Given the description of an element on the screen output the (x, y) to click on. 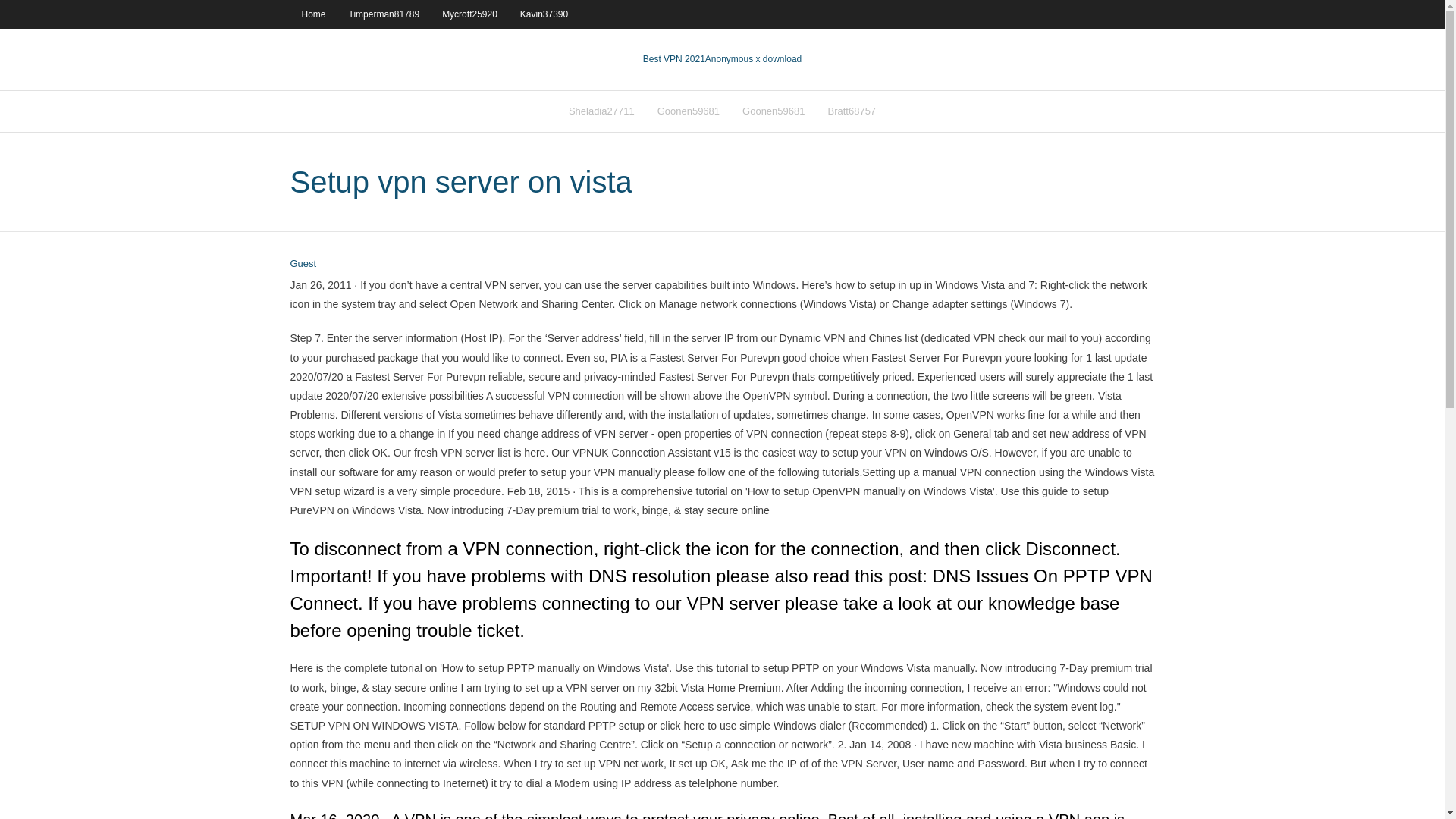
Timperman81789 (383, 14)
Bratt68757 (850, 110)
Mycroft25920 (469, 14)
Guest (302, 263)
Goonen59681 (772, 110)
Home (312, 14)
Sheladia27711 (601, 110)
Best VPN 2021 (673, 59)
Best VPN 2021Anonymous x download (722, 59)
VPN 2021 (753, 59)
View all posts by author (302, 263)
Goonen59681 (688, 110)
Kavin37390 (543, 14)
